Given the description of an element on the screen output the (x, y) to click on. 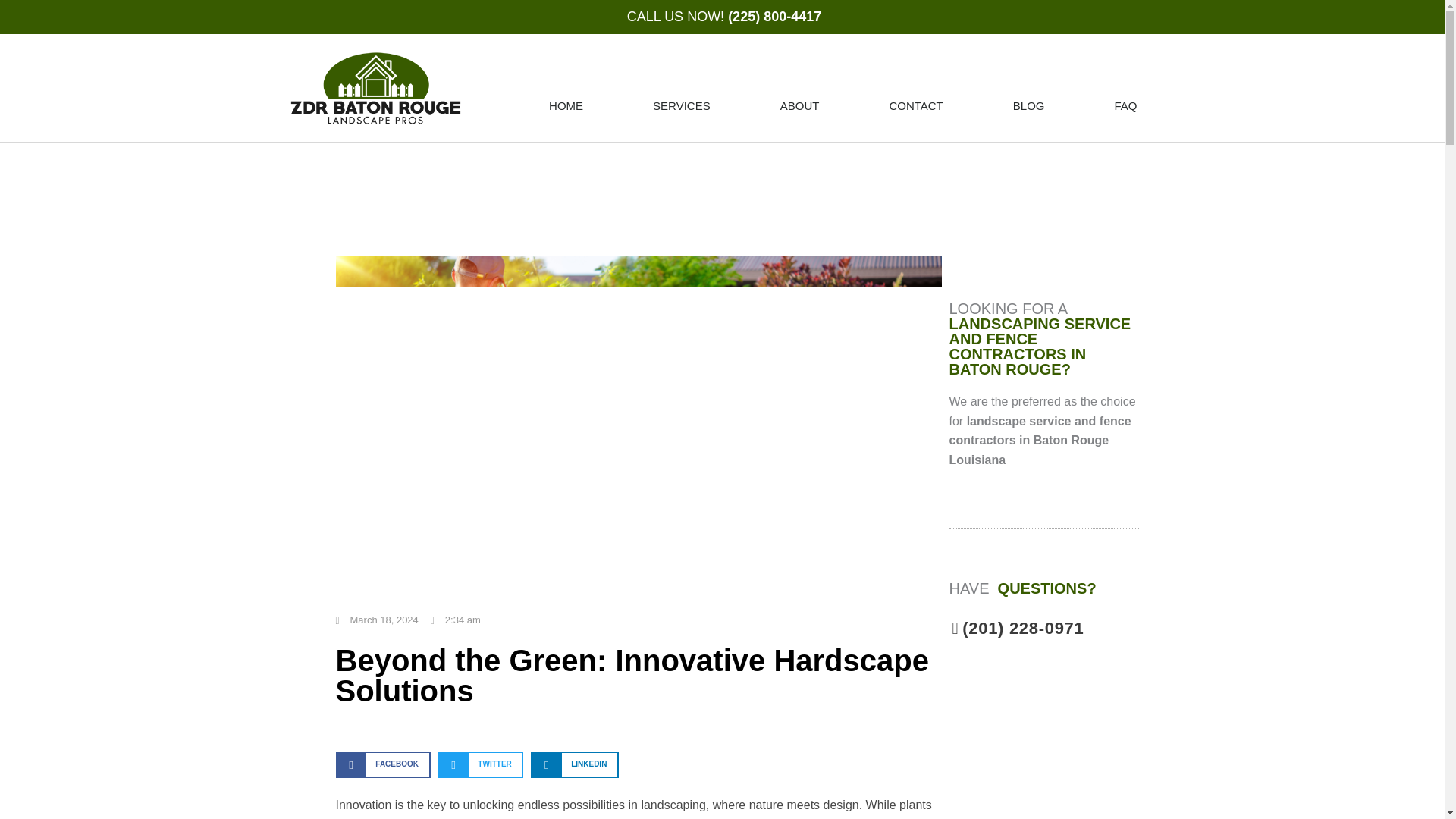
ABOUT (799, 105)
CONTACT (914, 105)
FAQ (1125, 105)
SERVICES (681, 105)
BLOG (1028, 105)
HOME (565, 105)
